Given the description of an element on the screen output the (x, y) to click on. 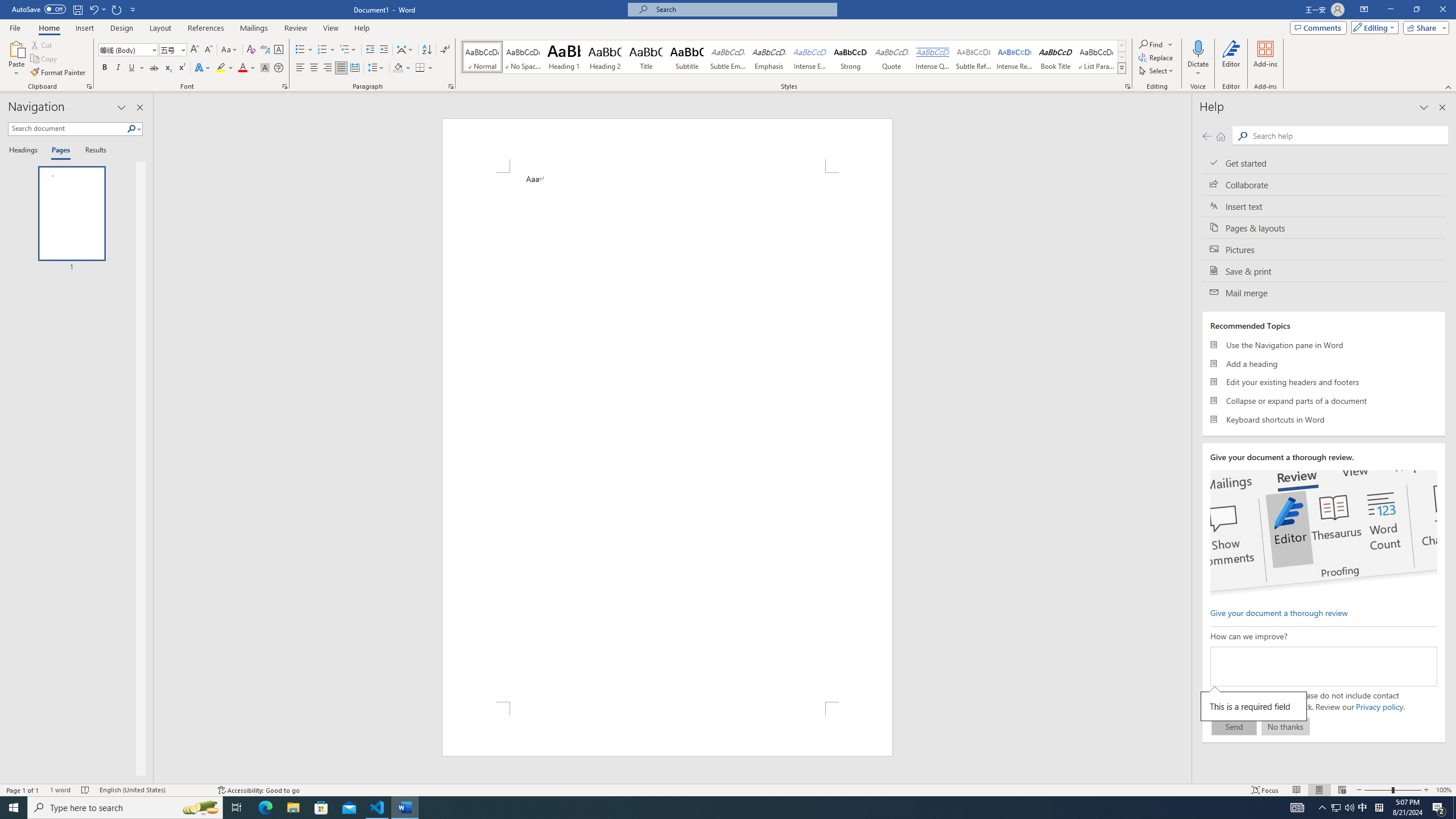
How can we improve? (1323, 666)
Pages & layouts (1323, 228)
Undo Increase Indent (96, 9)
Add a heading (1323, 363)
